Given the description of an element on the screen output the (x, y) to click on. 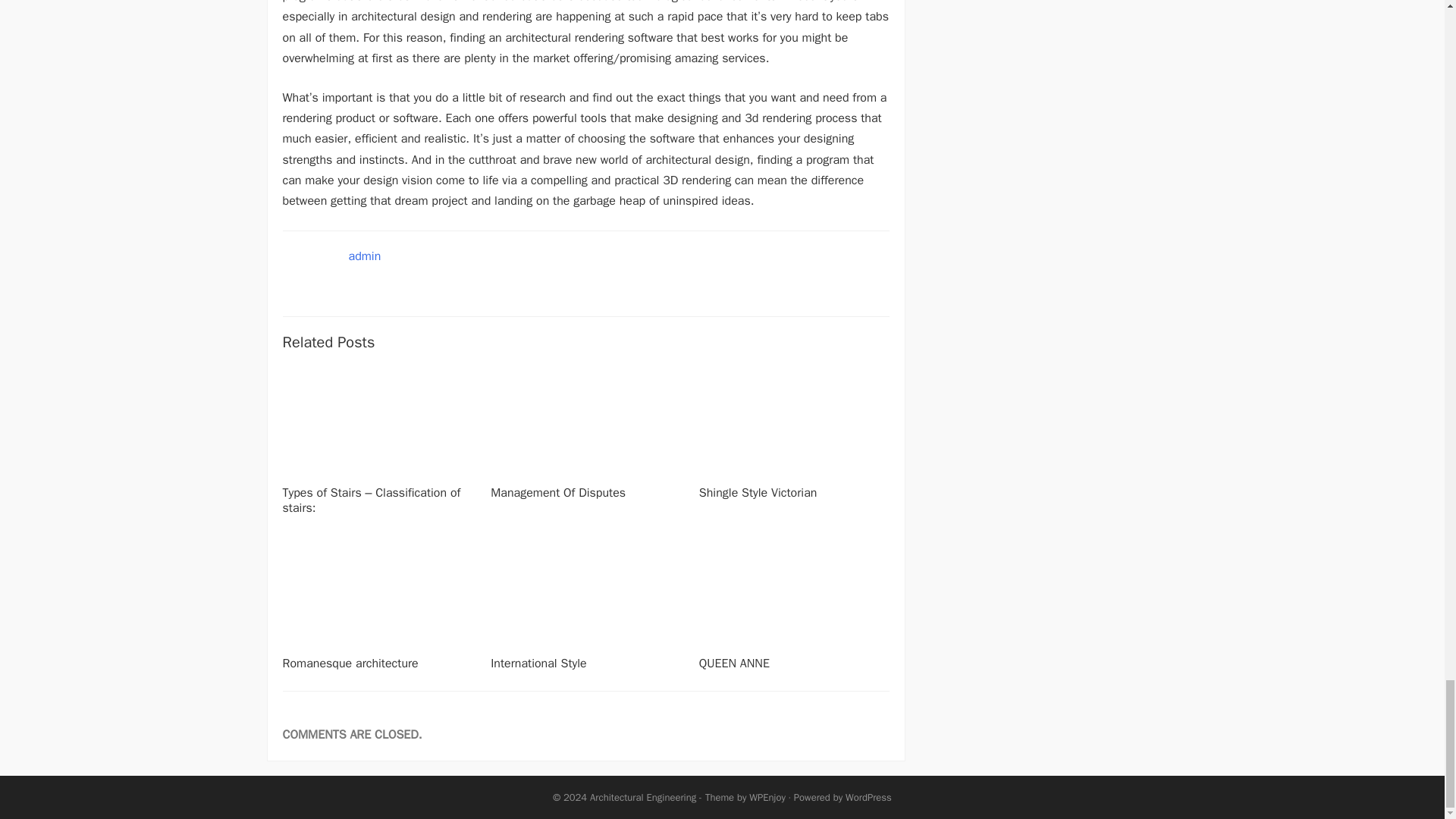
Shingle Style Victorian (757, 492)
Romanesque architecture (349, 663)
QUEEN ANNE (734, 663)
Management Of Disputes (558, 492)
International Style (538, 663)
admin (365, 255)
